Given the description of an element on the screen output the (x, y) to click on. 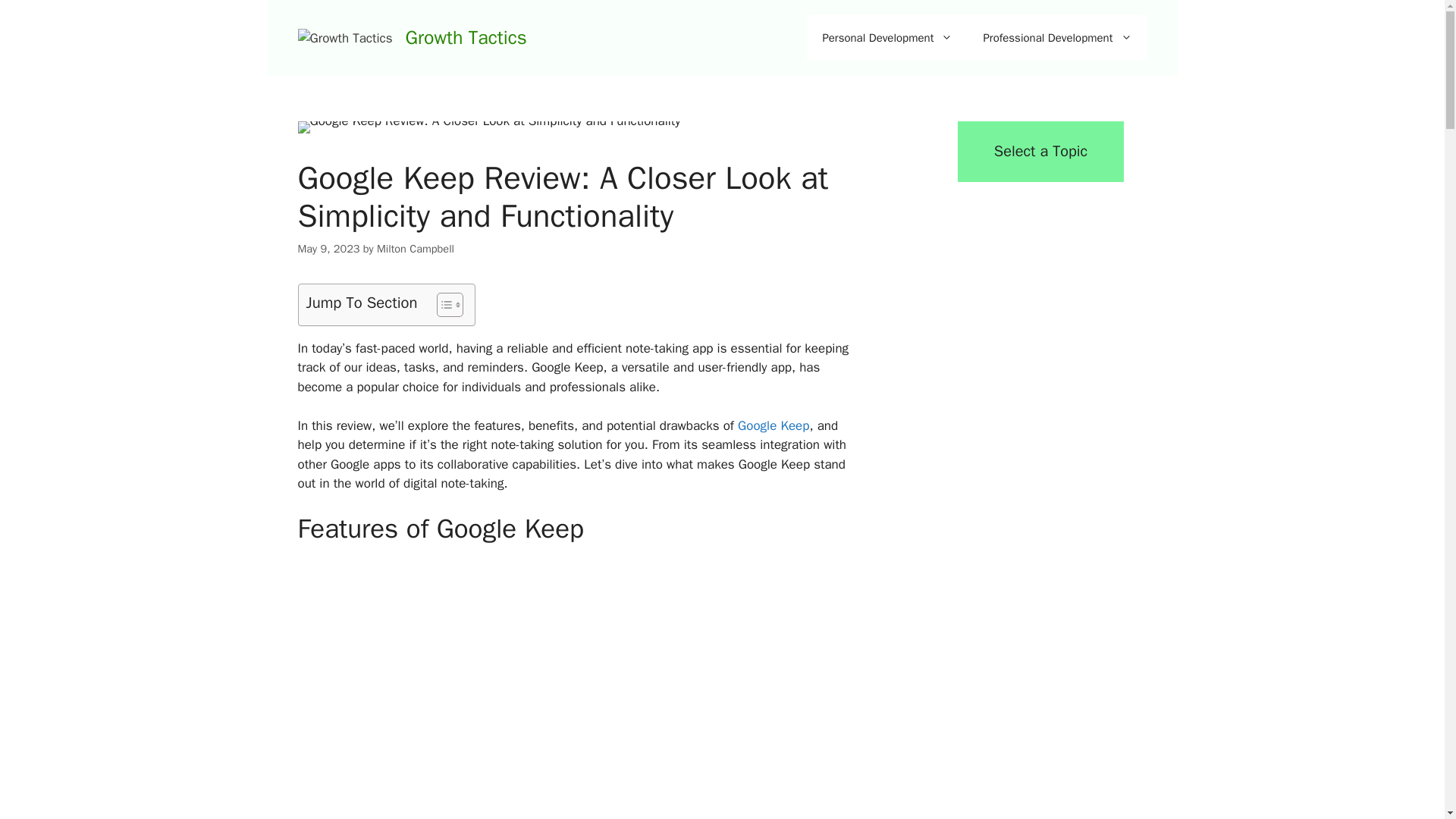
Milton Campbell (415, 248)
Personal Development (887, 37)
Growth Tactics (464, 37)
View all posts by Milton Campbell (415, 248)
Professional Development (1057, 37)
Google Keep (773, 425)
